Given the description of an element on the screen output the (x, y) to click on. 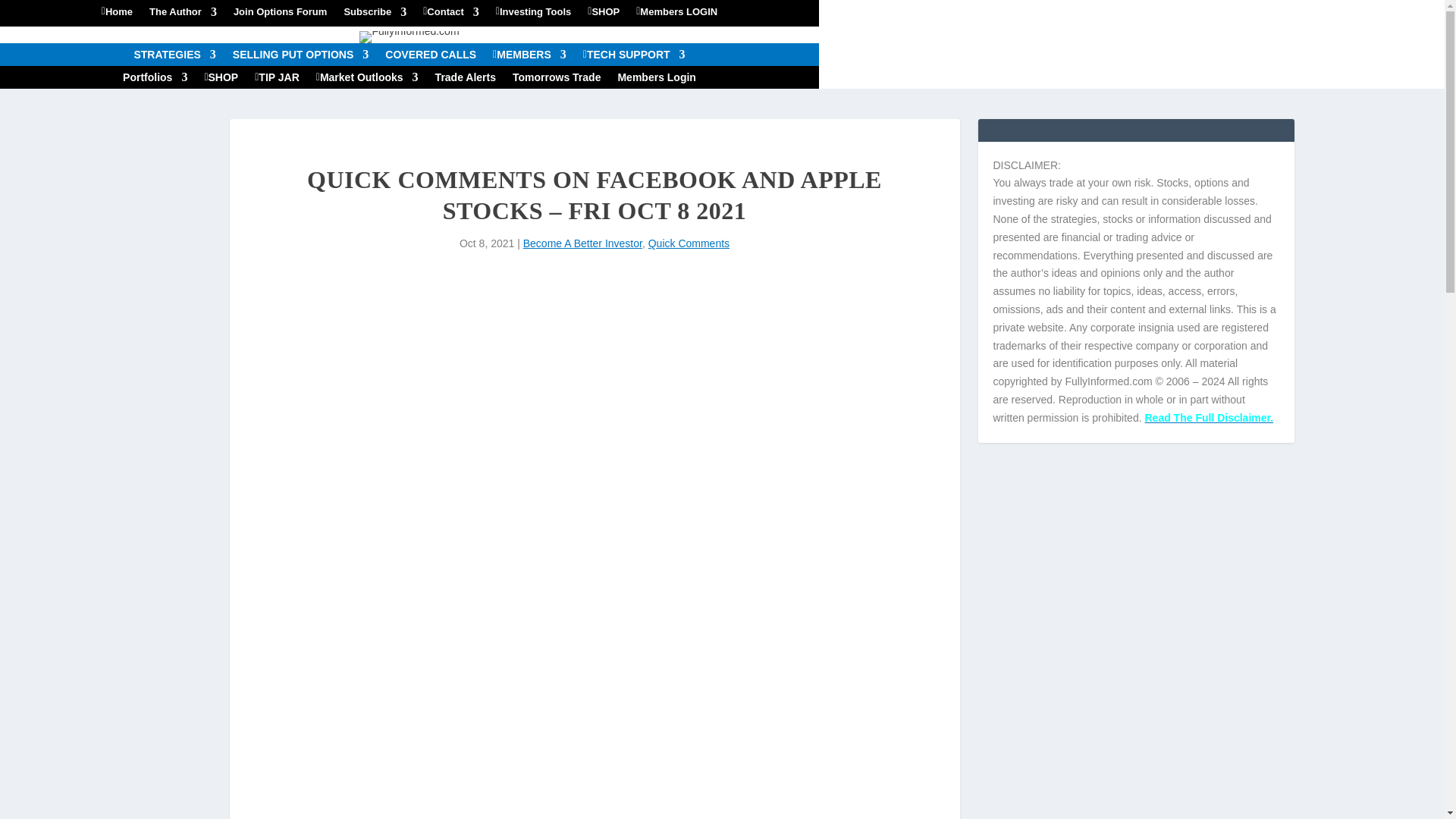
SHOP (605, 14)
Investing Tools (534, 14)
pf23 (408, 37)
Join The Free Options Forum (279, 14)
Profit and Income Strategies Index (174, 57)
Home (118, 14)
Subscribe (374, 14)
Join Options Forum (279, 14)
The Author (182, 14)
Members LOGIN (678, 14)
Have A Question Or Comment? (452, 14)
Contact (452, 14)
Login For Members Only (678, 14)
STRATEGIES (174, 57)
